Given the description of an element on the screen output the (x, y) to click on. 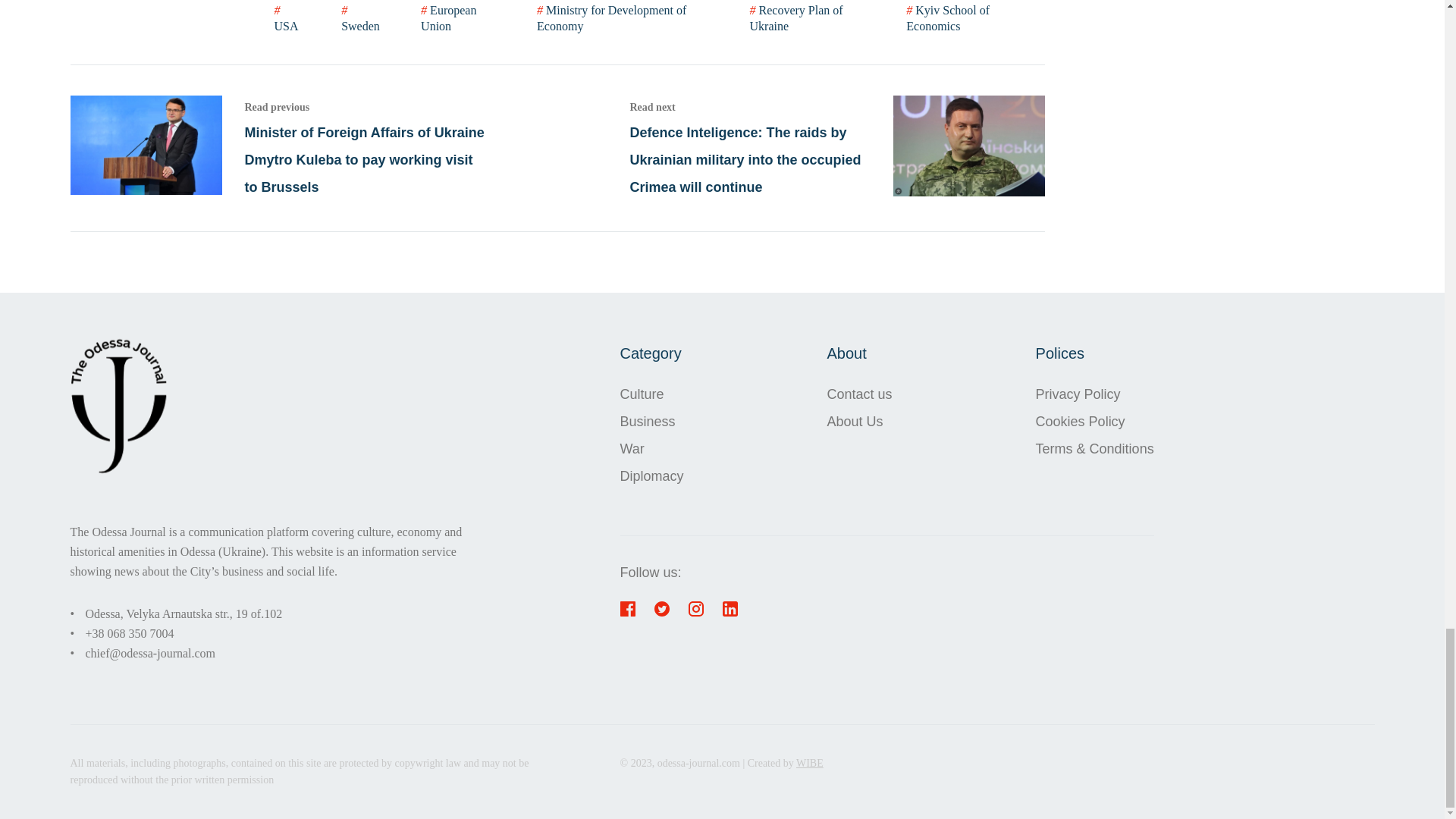
Ministry for Development of Economy (624, 18)
Odessa, Velyka Arnautska str., 19 of.102 (183, 613)
War (652, 447)
Recovery Plan of Ukraine (809, 18)
USA (289, 18)
Sweden (361, 18)
Culture (652, 393)
Business (652, 420)
European Union (459, 18)
